Given the description of an element on the screen output the (x, y) to click on. 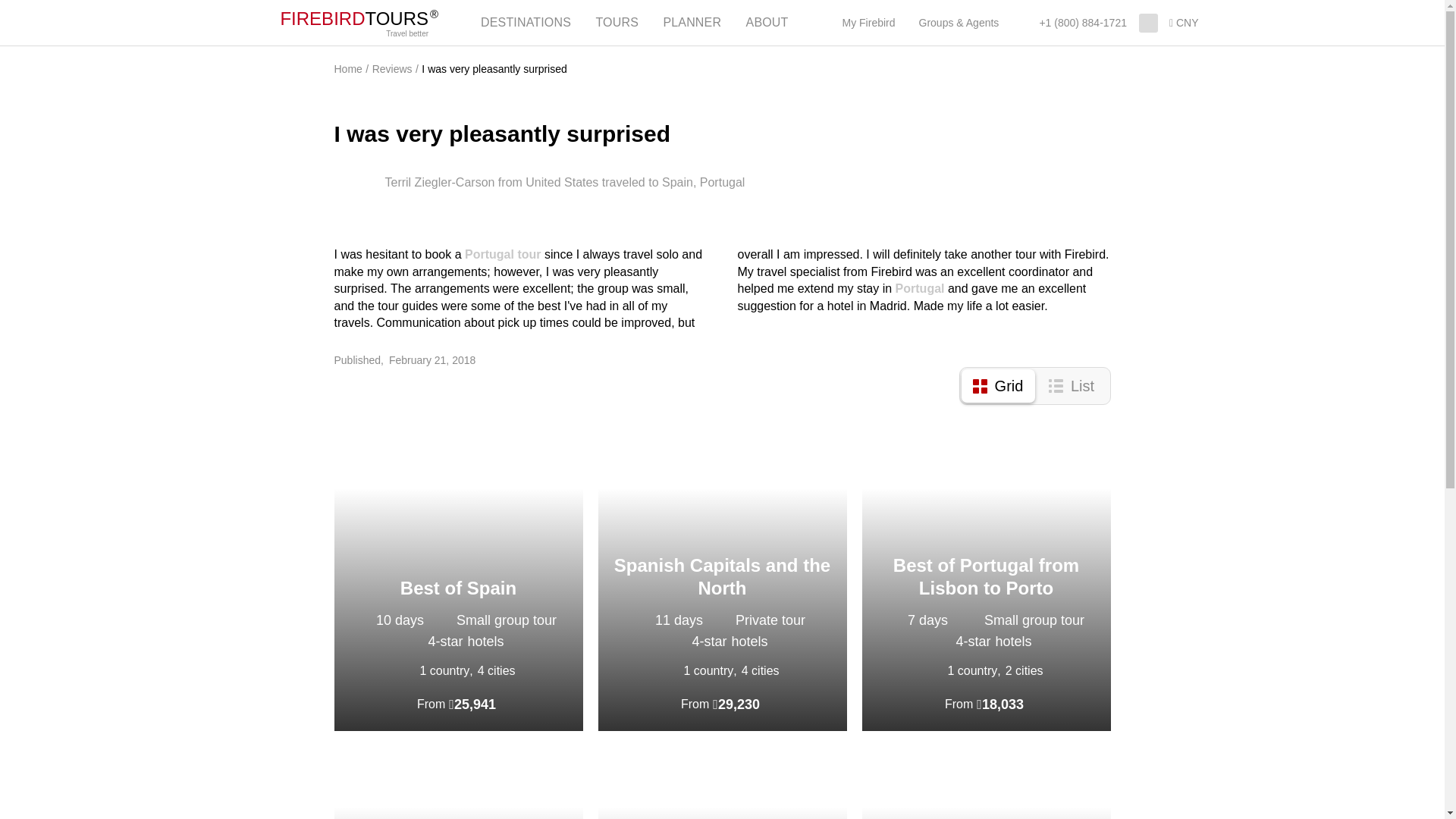
Spain Element type: hover (407, 670)
Home Element type: hover (260, 22)
Best of Portugal from Lisbon to Porto Element type: text (985, 576)
Skip to main content Element type: text (54, 0)
ABOUT Element type: text (767, 22)
search Element type: text (1148, 22)
Portugal Element type: text (919, 288)
Spain Element type: hover (671, 670)
Best of Spain Element type: text (458, 588)
DESTINATIONS Element type: text (525, 22)
Private tour Element type: text (762, 620)
Reviews Element type: text (392, 68)
Small group tour Element type: text (498, 620)
Small group tour Element type: text (1026, 620)
TOURS Element type: text (616, 22)
Portugal Element type: hover (935, 670)
 Spanish Capitals and the North Element type: hover (721, 579)
Spanish Capitals and the North Element type: text (721, 576)
Top Choice Label Element type: hover (1087, 457)
Home Element type: text (347, 68)
PLANNER Element type: text (691, 22)
Portugal tour Element type: text (502, 253)
